Given the description of an element on the screen output the (x, y) to click on. 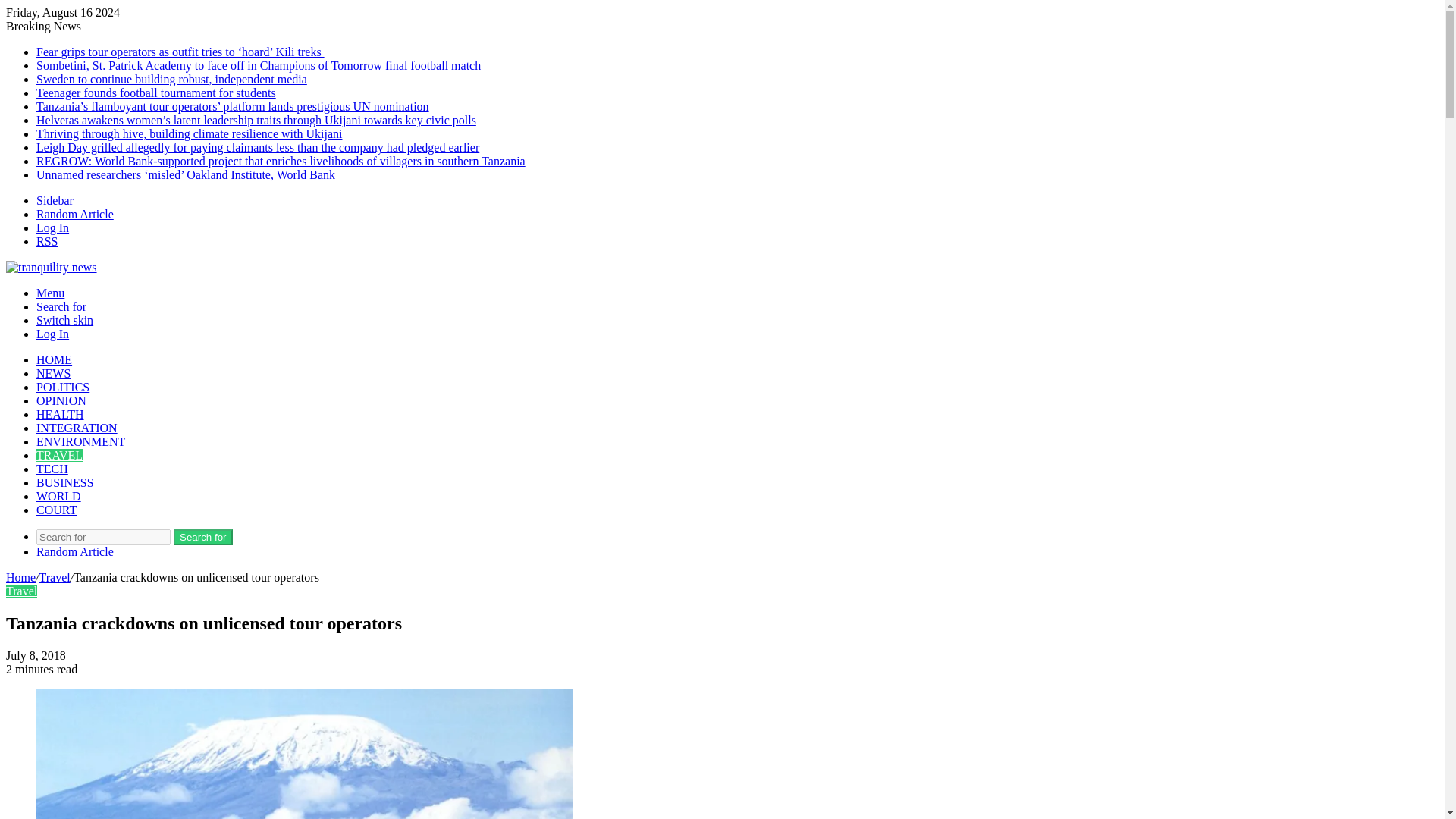
POLITICS (62, 386)
Sweden to continue building robust, independent media (171, 78)
Teenager founds football tournament for students (156, 92)
COURT (56, 509)
Travel (54, 576)
Log In (52, 227)
INTEGRATION (76, 427)
Random Article (74, 214)
TRAVEL (59, 454)
